Given the description of an element on the screen output the (x, y) to click on. 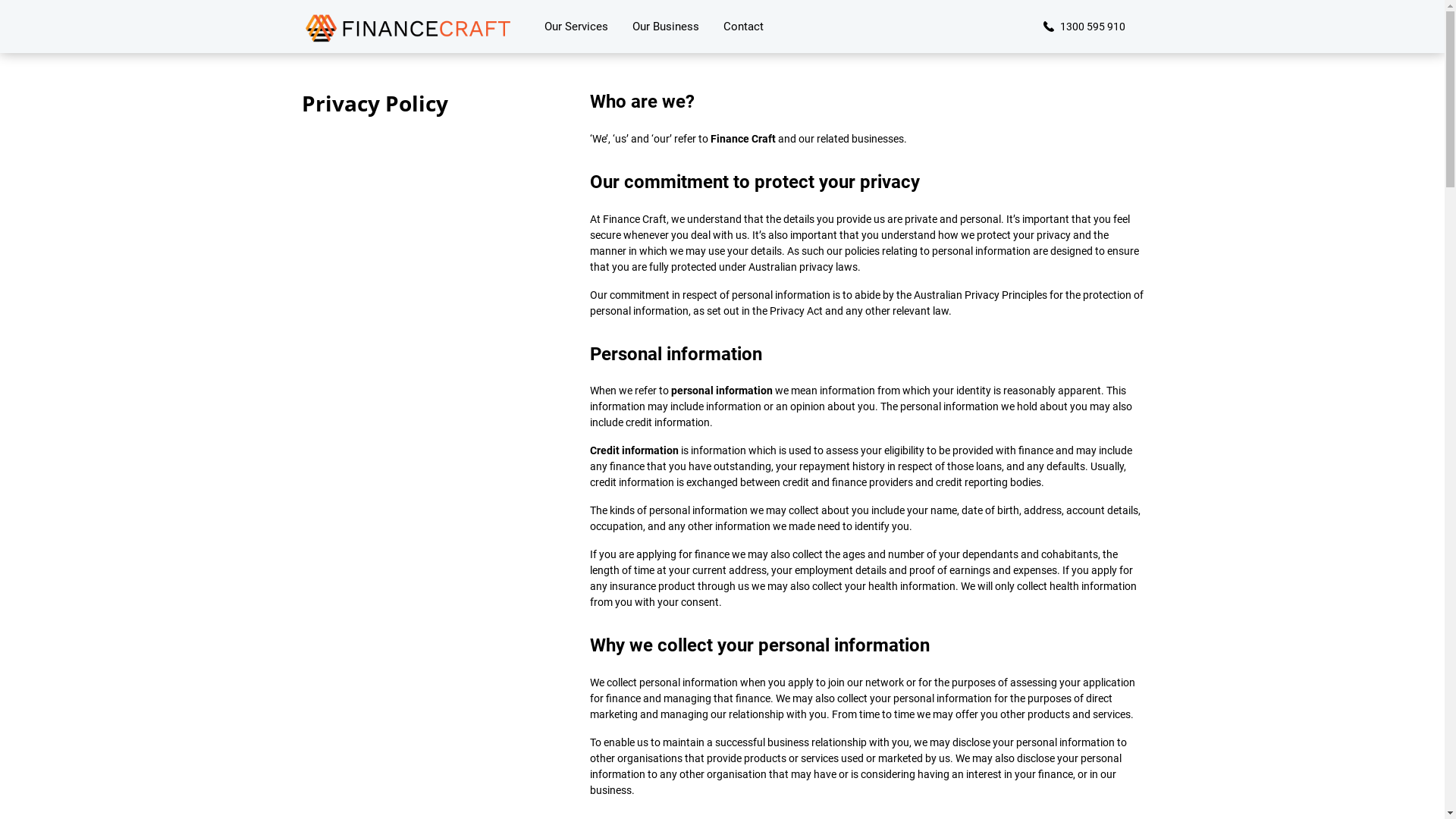
1300 595 910 Element type: text (1082, 26)
Contact Element type: text (743, 26)
Our Services Element type: text (576, 26)
Our Business Element type: text (665, 26)
